Given the description of an element on the screen output the (x, y) to click on. 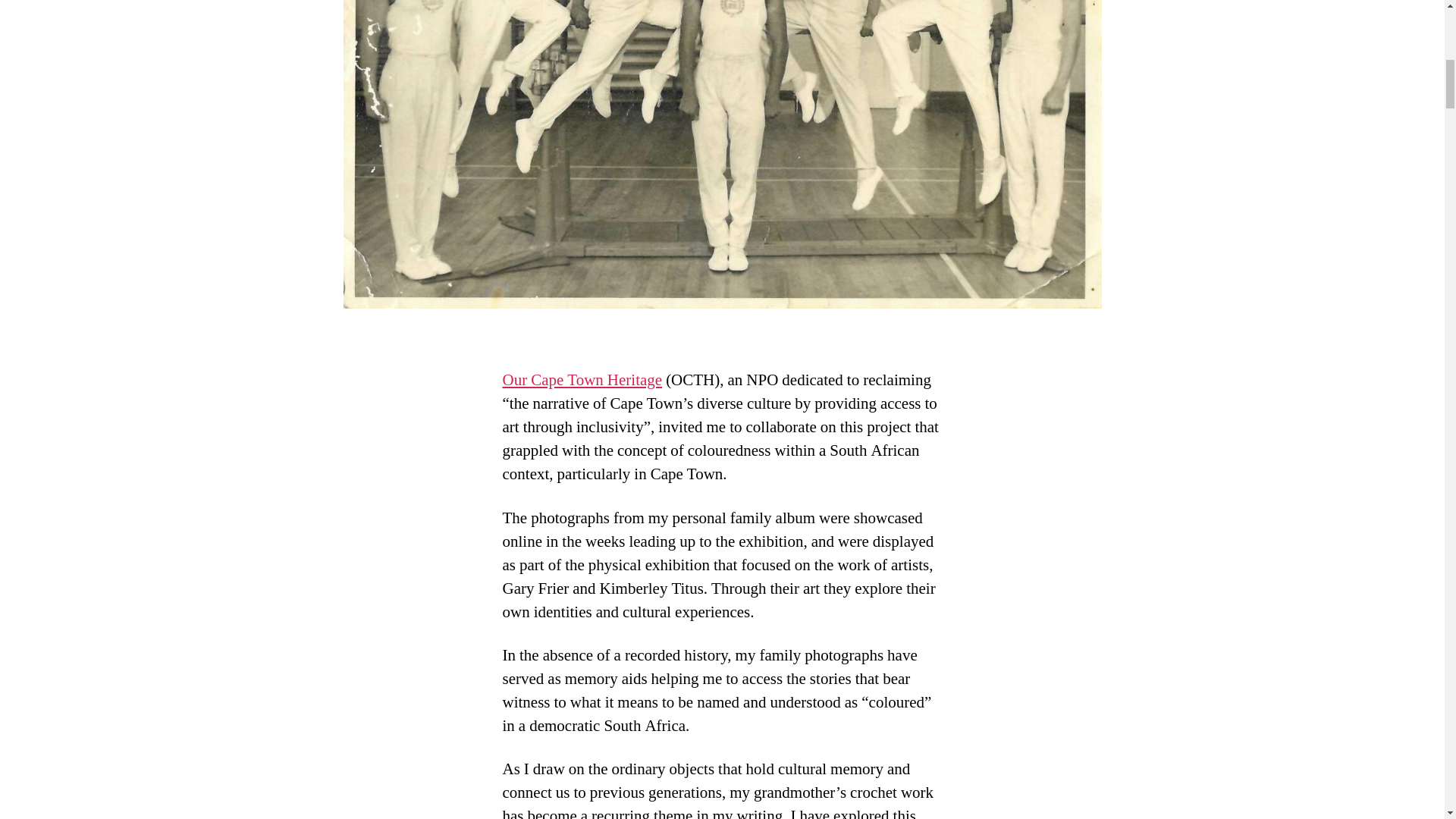
Our Cape Town Heritage (582, 380)
